Given the description of an element on the screen output the (x, y) to click on. 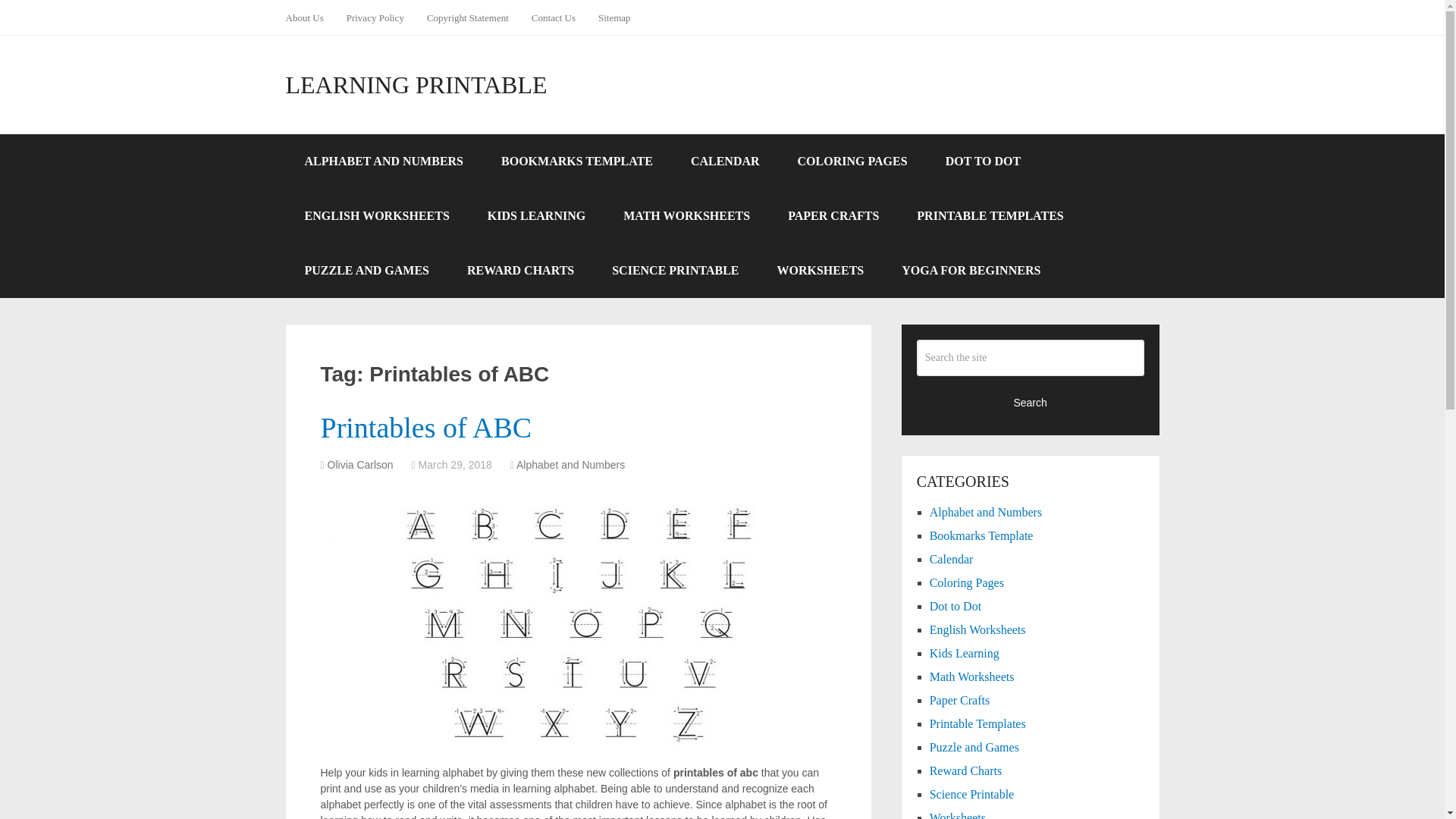
Coloring Pages (967, 582)
Posts by Olivia Carlson (360, 464)
KIDS LEARNING (536, 216)
SCIENCE PRINTABLE (674, 270)
Search (1030, 402)
COLORING PAGES (852, 161)
Olivia Carlson (360, 464)
Calendar (952, 558)
PAPER CRAFTS (833, 216)
Printables of ABC (425, 427)
YOGA FOR BEGINNERS (970, 270)
LEARNING PRINTABLE (416, 84)
CALENDAR (724, 161)
ALPHABET AND NUMBERS (383, 161)
